Given the description of an element on the screen output the (x, y) to click on. 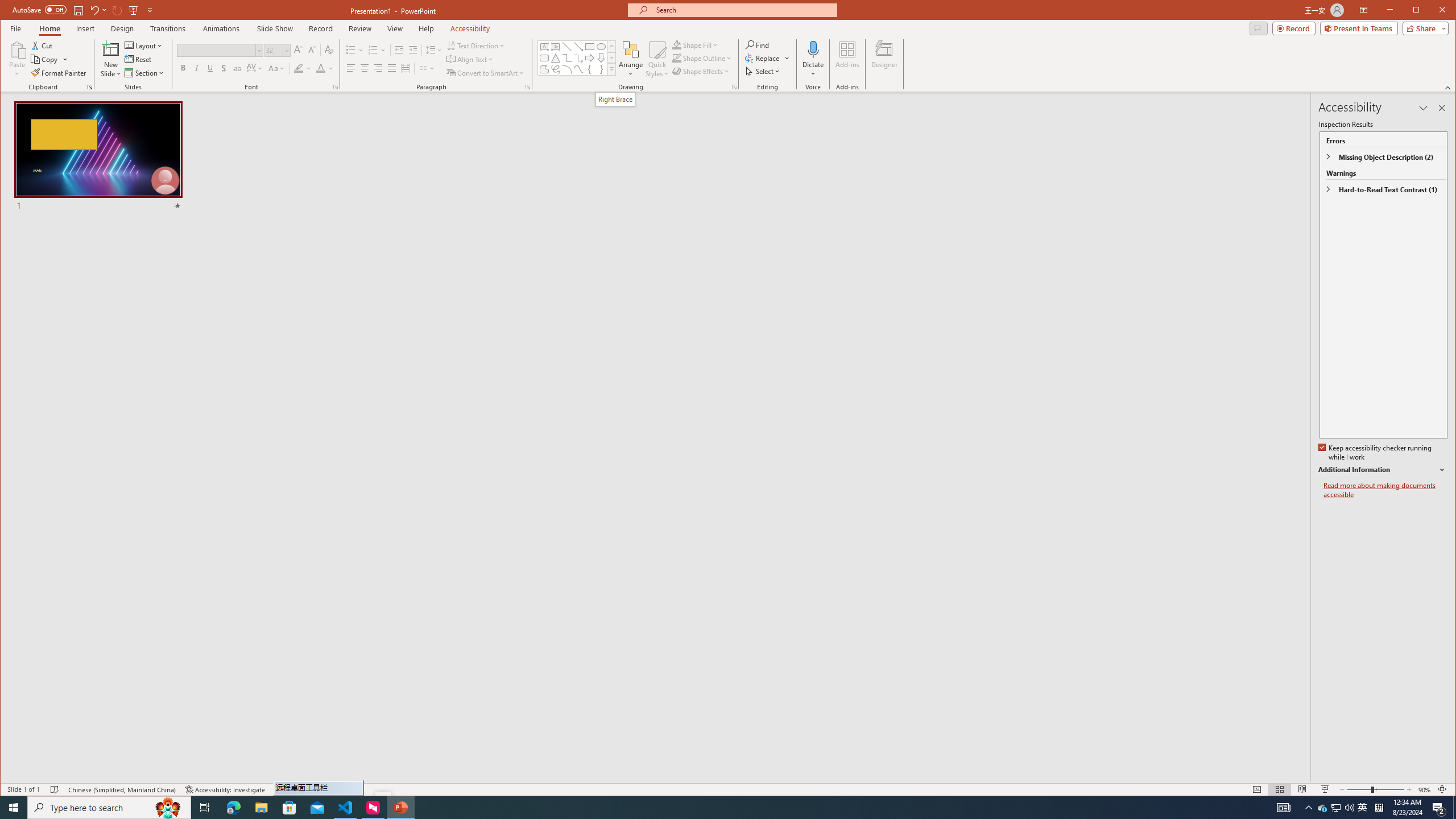
Zoom 90% (1424, 789)
